Given the description of an element on the screen output the (x, y) to click on. 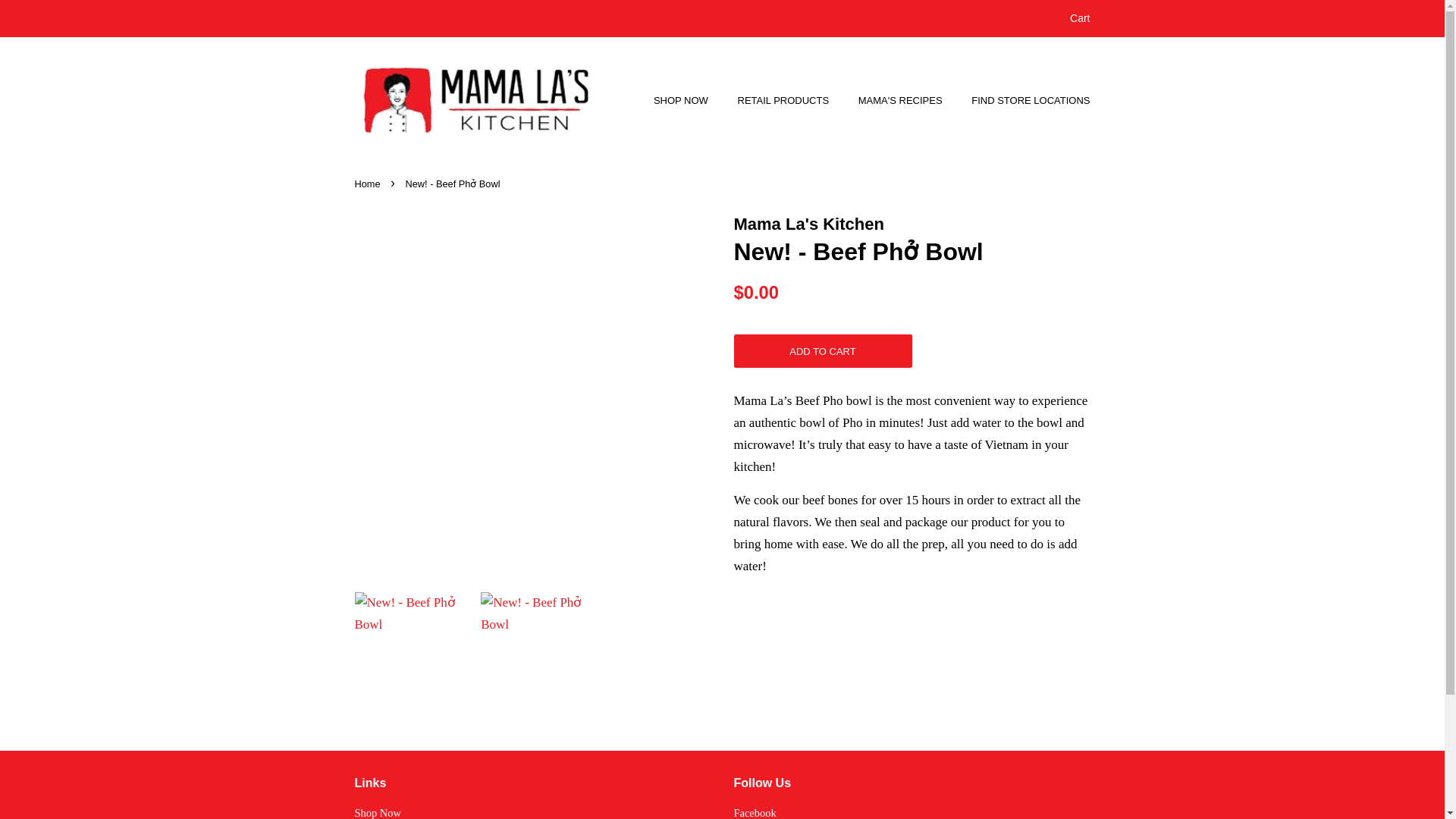
Mama La's Kitchen on Facebook (754, 812)
SHOP NOW (688, 100)
Facebook (754, 812)
FIND STORE LOCATIONS (1024, 100)
Cart (1079, 18)
RETAIL PRODUCTS (785, 100)
Back to the frontpage (369, 183)
Page 1 (911, 483)
Shop Now (378, 812)
ADD TO CART (822, 350)
